Given the description of an element on the screen output the (x, y) to click on. 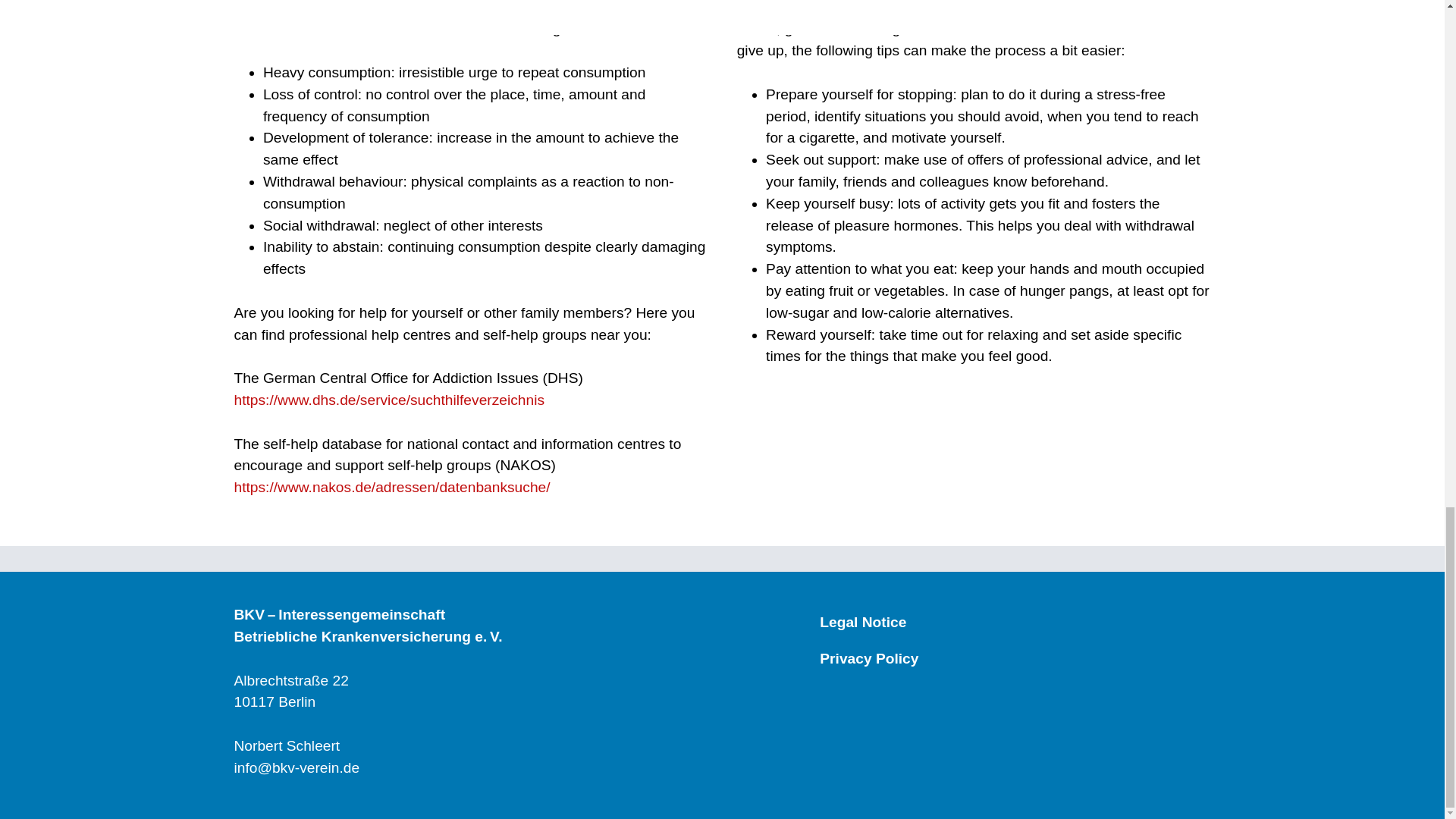
Privacy Policy (868, 658)
Legal Notice (862, 621)
